Given the description of an element on the screen output the (x, y) to click on. 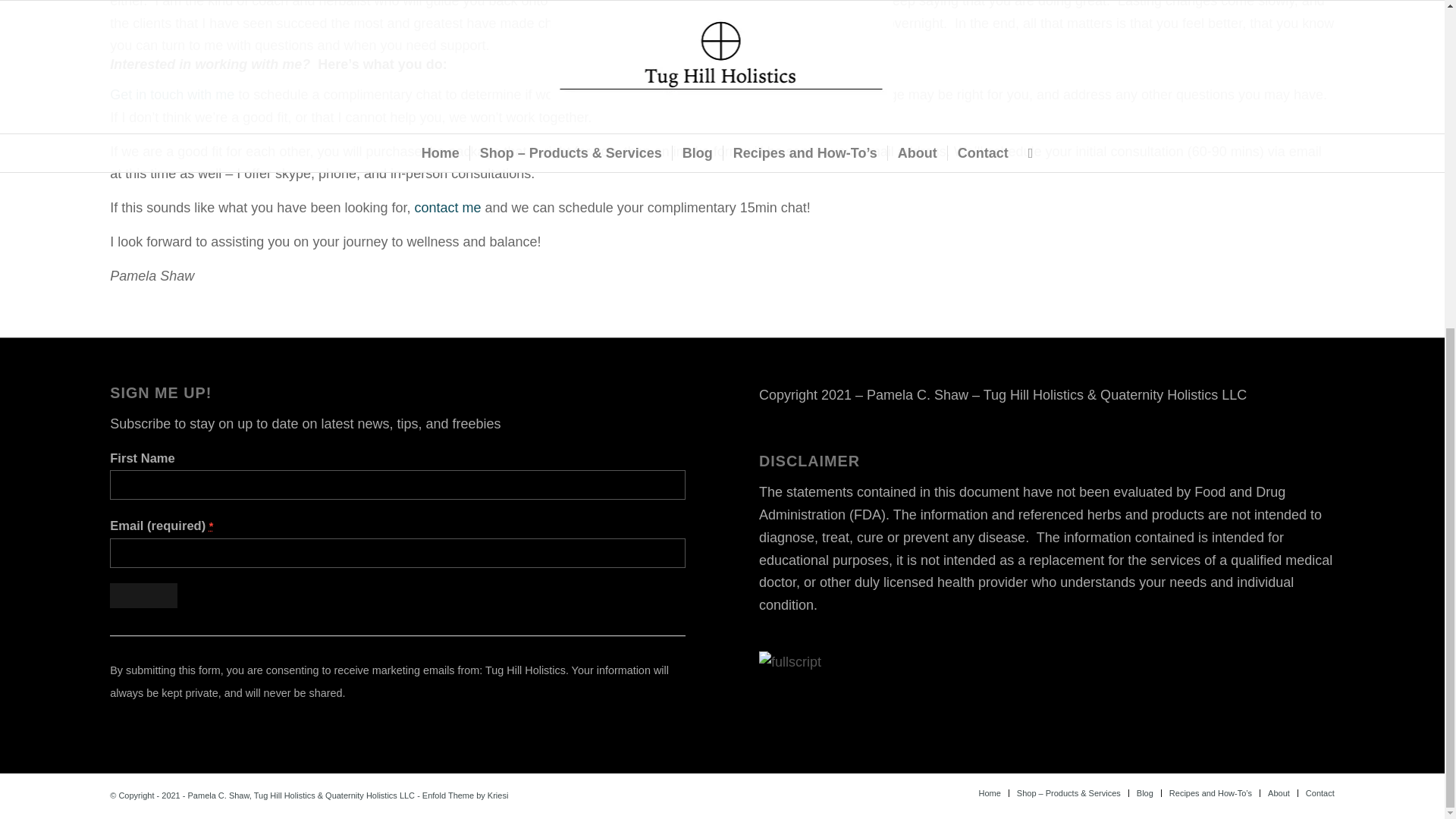
Sign up (143, 595)
Sign up (143, 595)
Contact (174, 94)
Home (989, 792)
Blog (1145, 792)
contact me (446, 207)
Enfold Theme by Kriesi (465, 795)
Contact (446, 207)
Get in touch with me (174, 94)
